Given the description of an element on the screen output the (x, y) to click on. 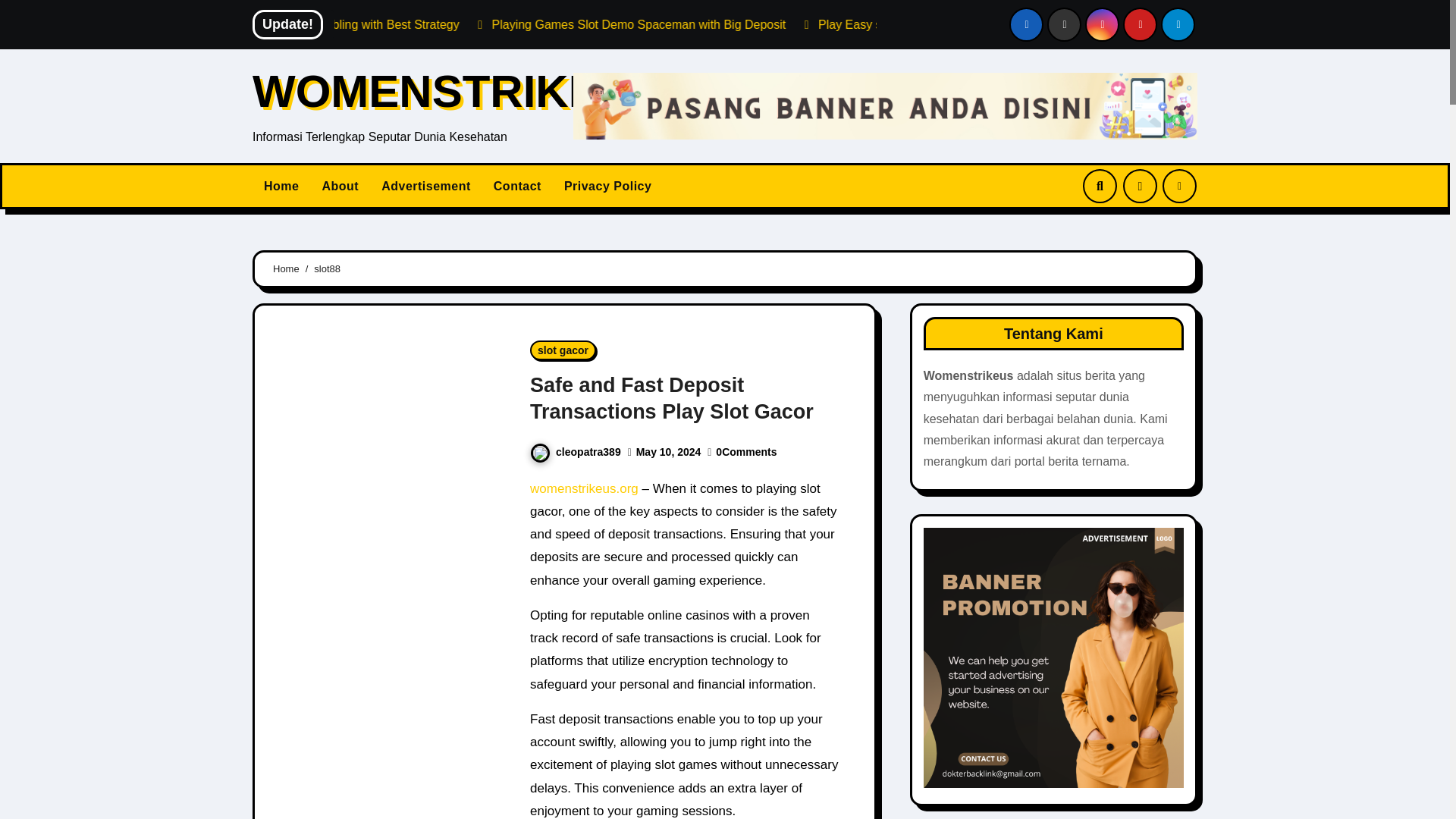
cleopatra389 (575, 451)
Privacy Policy (608, 186)
Home (280, 186)
How to Play Real Money Slot Dana Gambling with Best Strategy (437, 24)
slot gacor (562, 350)
womenstrikeus.org (584, 488)
WOMENSTRIKEUS (456, 91)
Contact (517, 186)
About (339, 186)
0Comments (746, 451)
Home (280, 186)
Playing Games Slot Demo Spaceman with Big Deposit (789, 24)
May 10, 2024 (668, 451)
Safe and Fast Deposit Transactions Play Slot Gacor (671, 398)
Advertisement (425, 186)
